Given the description of an element on the screen output the (x, y) to click on. 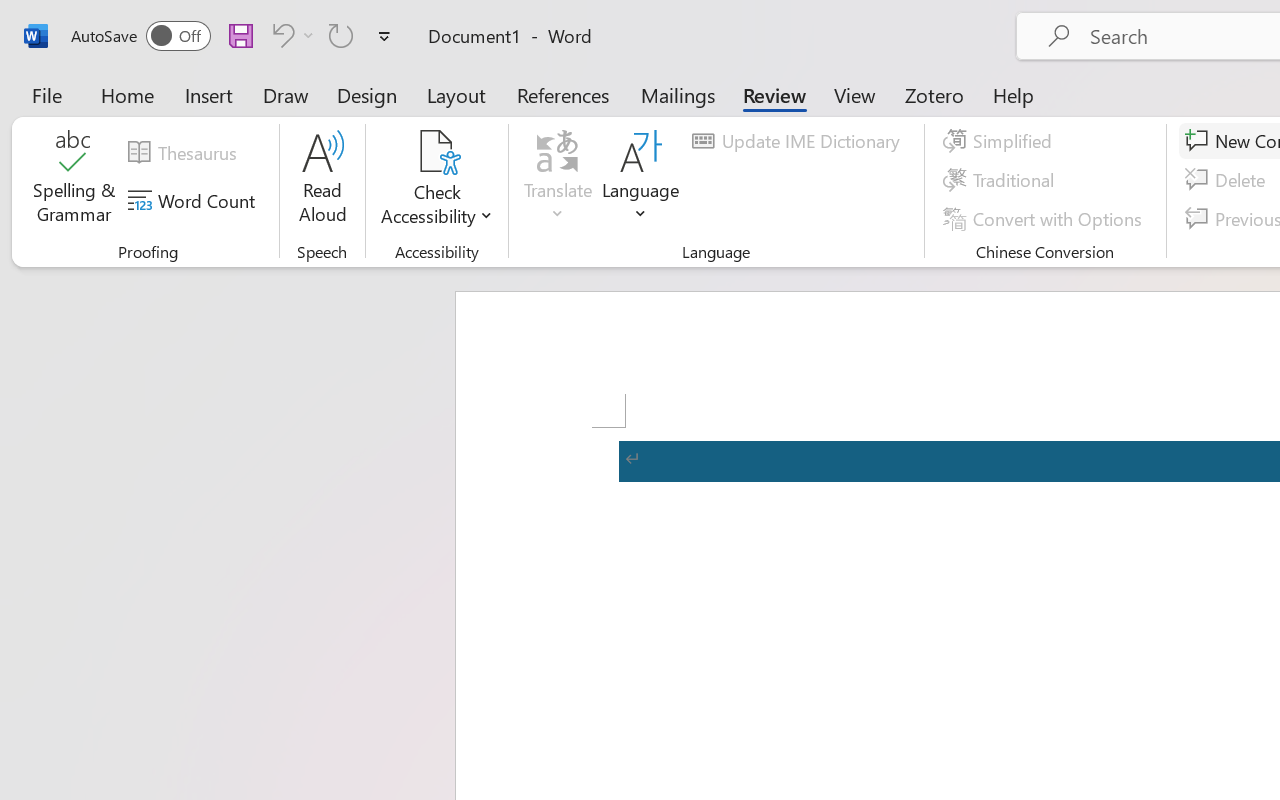
Undo Apply Quick Style Set (290, 35)
Simplified (1000, 141)
